Given the description of an element on the screen output the (x, y) to click on. 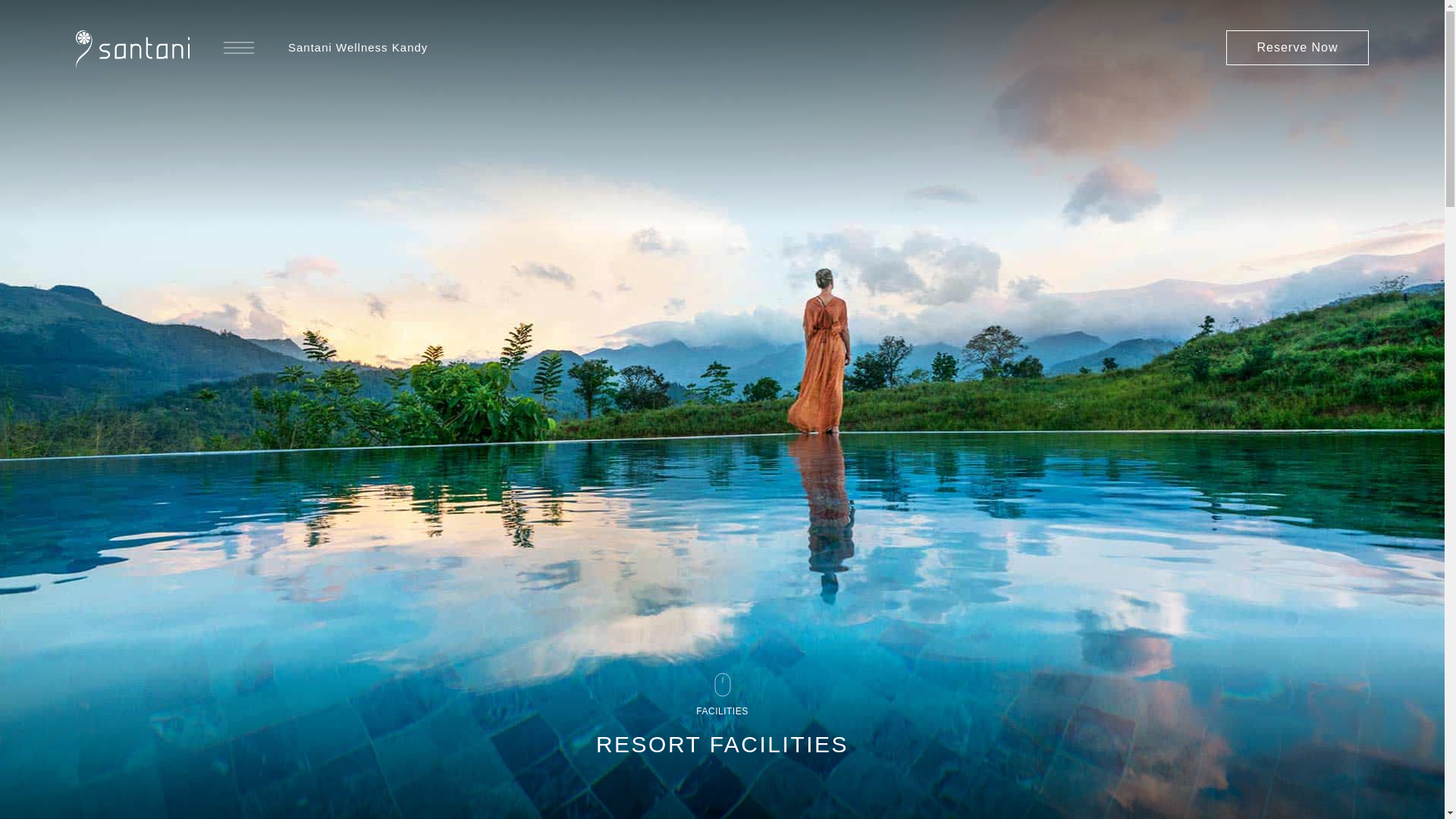
Reserve Now (1296, 47)
Santani Wellness Kandy (358, 47)
